Given the description of an element on the screen output the (x, y) to click on. 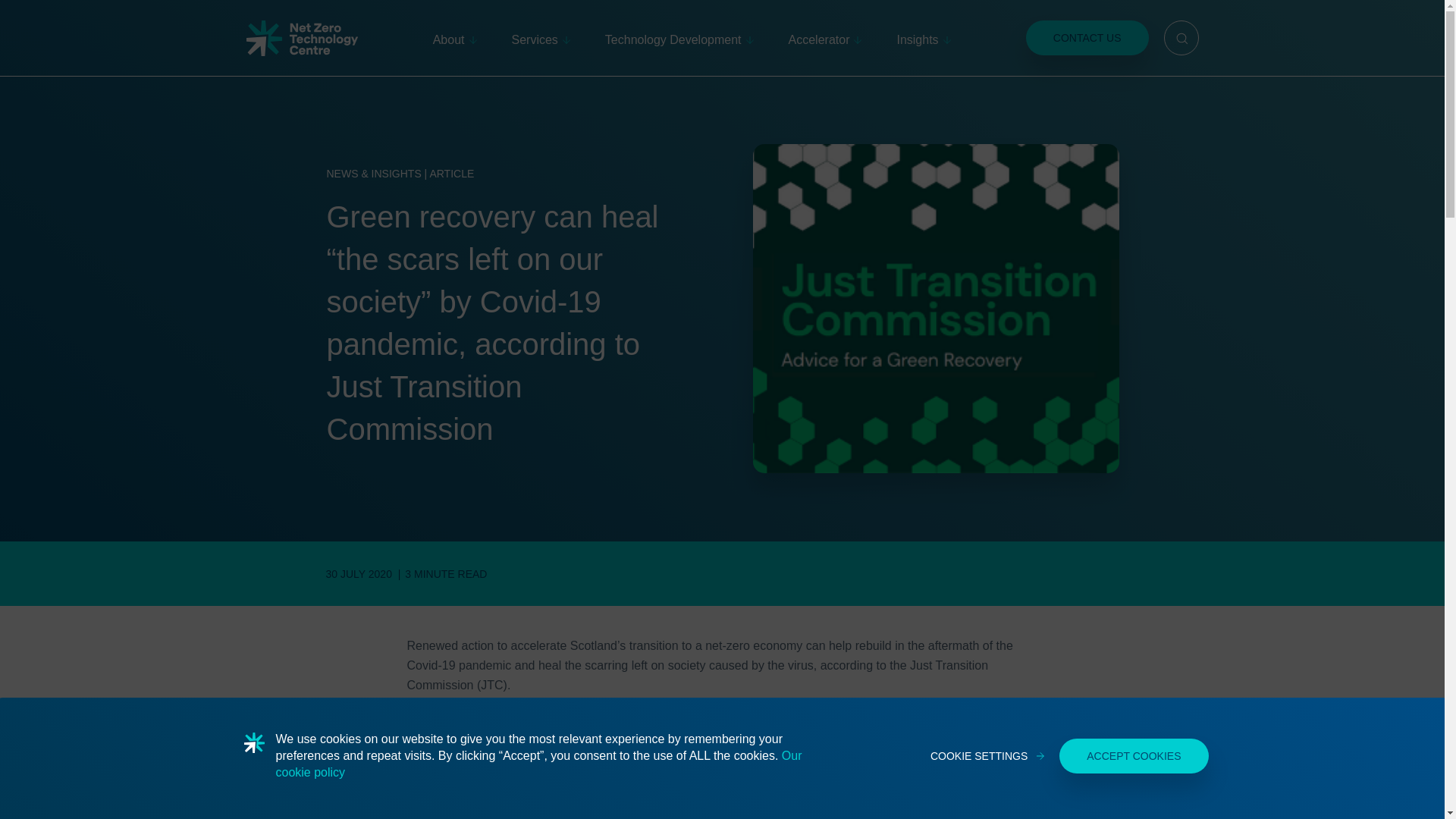
Search (1180, 37)
Technology Development (679, 37)
About (454, 37)
Search (1180, 37)
Our cookie policy (539, 763)
Net Zero Technology Centre (301, 37)
ACCEPT COOKIES (1133, 755)
COOKIE SETTINGS (986, 756)
Services (540, 37)
